Given the description of an element on the screen output the (x, y) to click on. 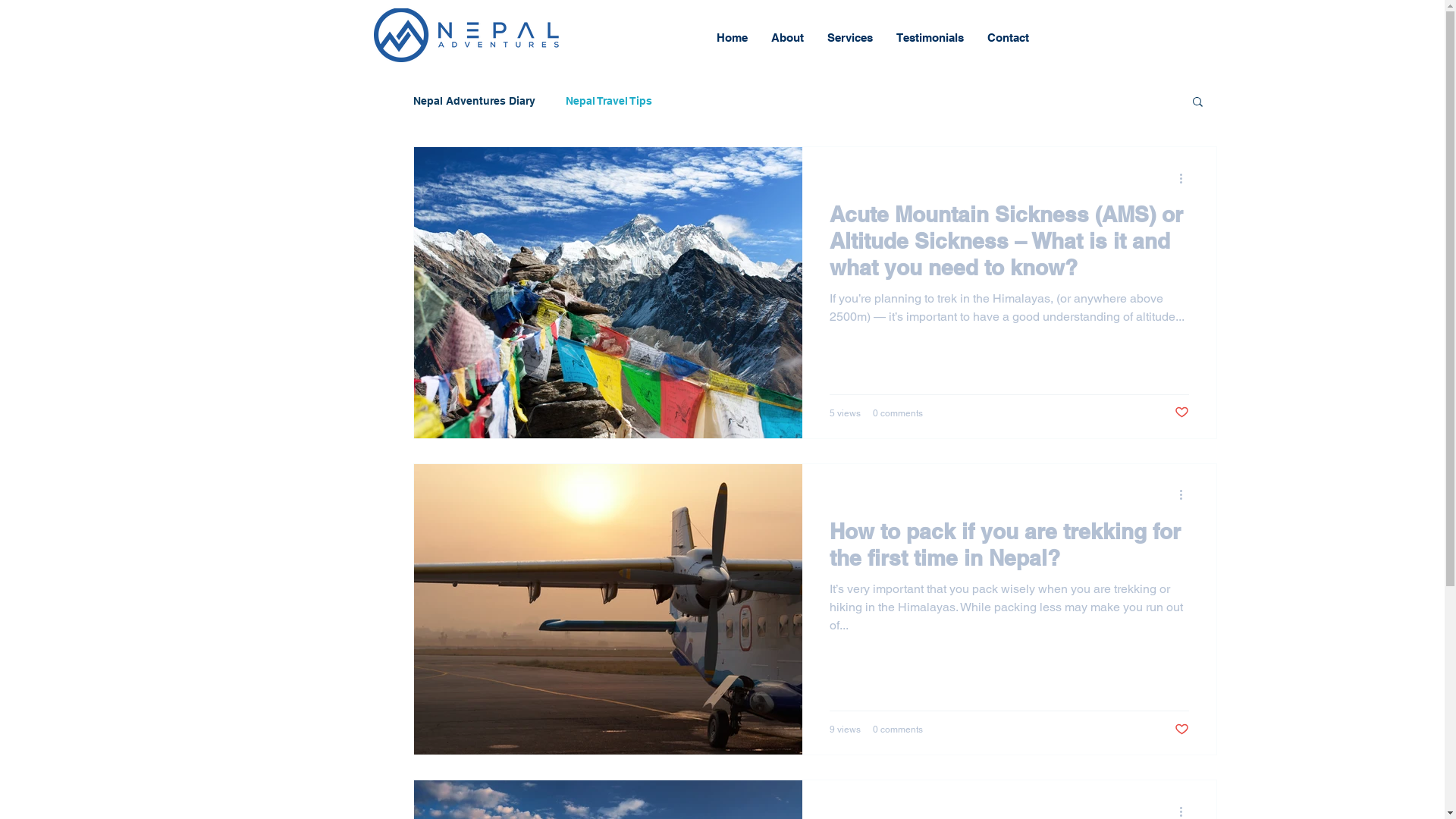
0 comments Element type: text (897, 729)
Services Element type: text (848, 37)
Post not marked as liked Element type: text (1180, 412)
Testimonials Element type: text (929, 37)
Nepal Travel Tips Element type: text (608, 100)
How to pack if you are trekking for the first time in Nepal? Element type: text (1009, 548)
0 comments Element type: text (897, 412)
Home Element type: text (730, 37)
Contact Element type: text (1007, 37)
Post not marked as liked Element type: text (1180, 729)
About Element type: text (786, 37)
Nepal Adventures Diary Element type: text (473, 100)
